Given the description of an element on the screen output the (x, y) to click on. 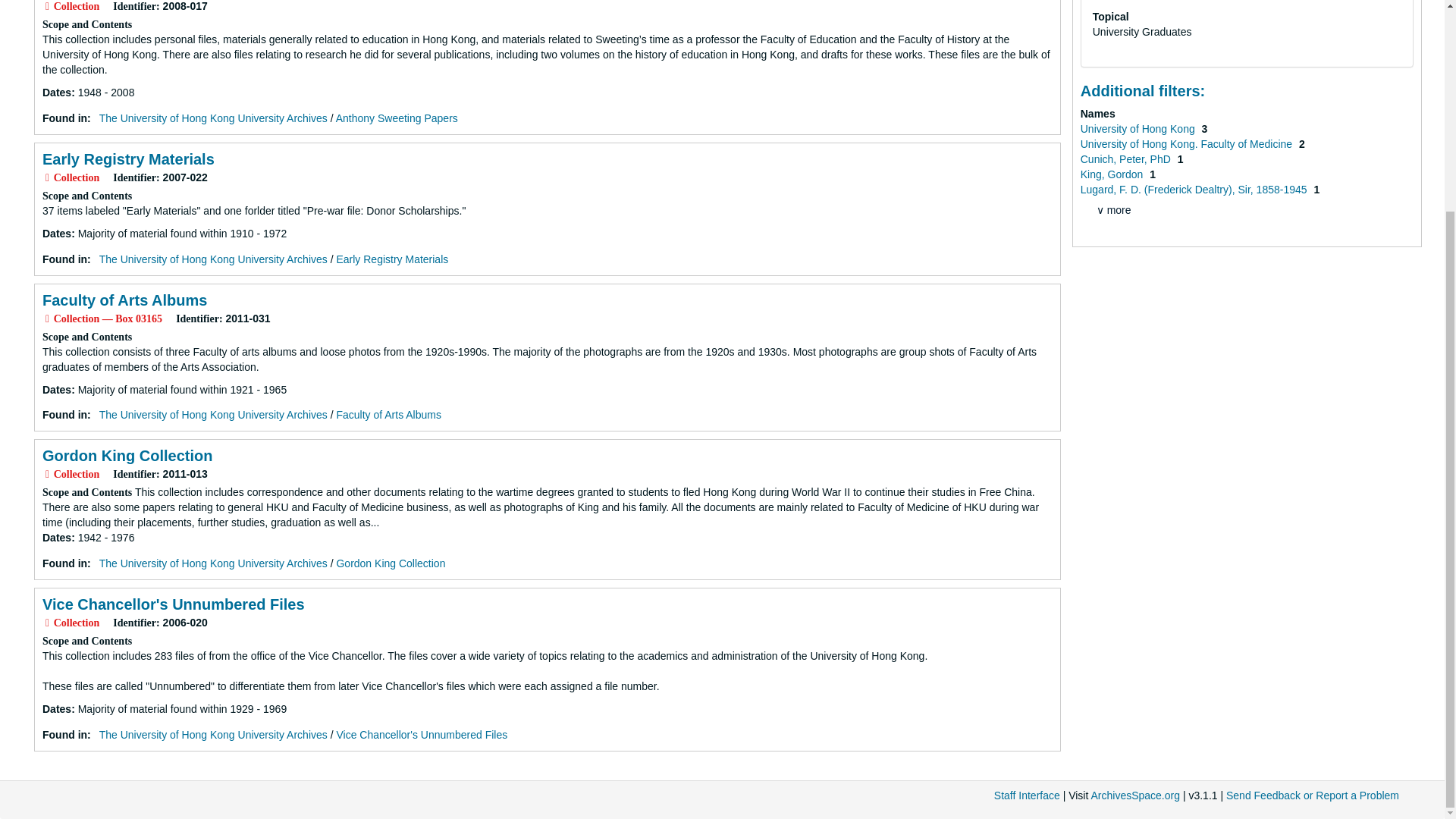
Early Registry Materials (392, 259)
The University of Hong Kong University Archives (213, 734)
Gordon King Collection (390, 563)
translation missing: en.dates (56, 708)
Filter By 'University of Hong Kong' (1139, 128)
Faculty of Arts Albums (124, 299)
translation missing: en.dates (56, 92)
Filter By 'University of Hong Kong. Faculty of Medicine' (1187, 143)
The University of Hong Kong University Archives (213, 259)
Gordon King Collection (127, 455)
